Given the description of an element on the screen output the (x, y) to click on. 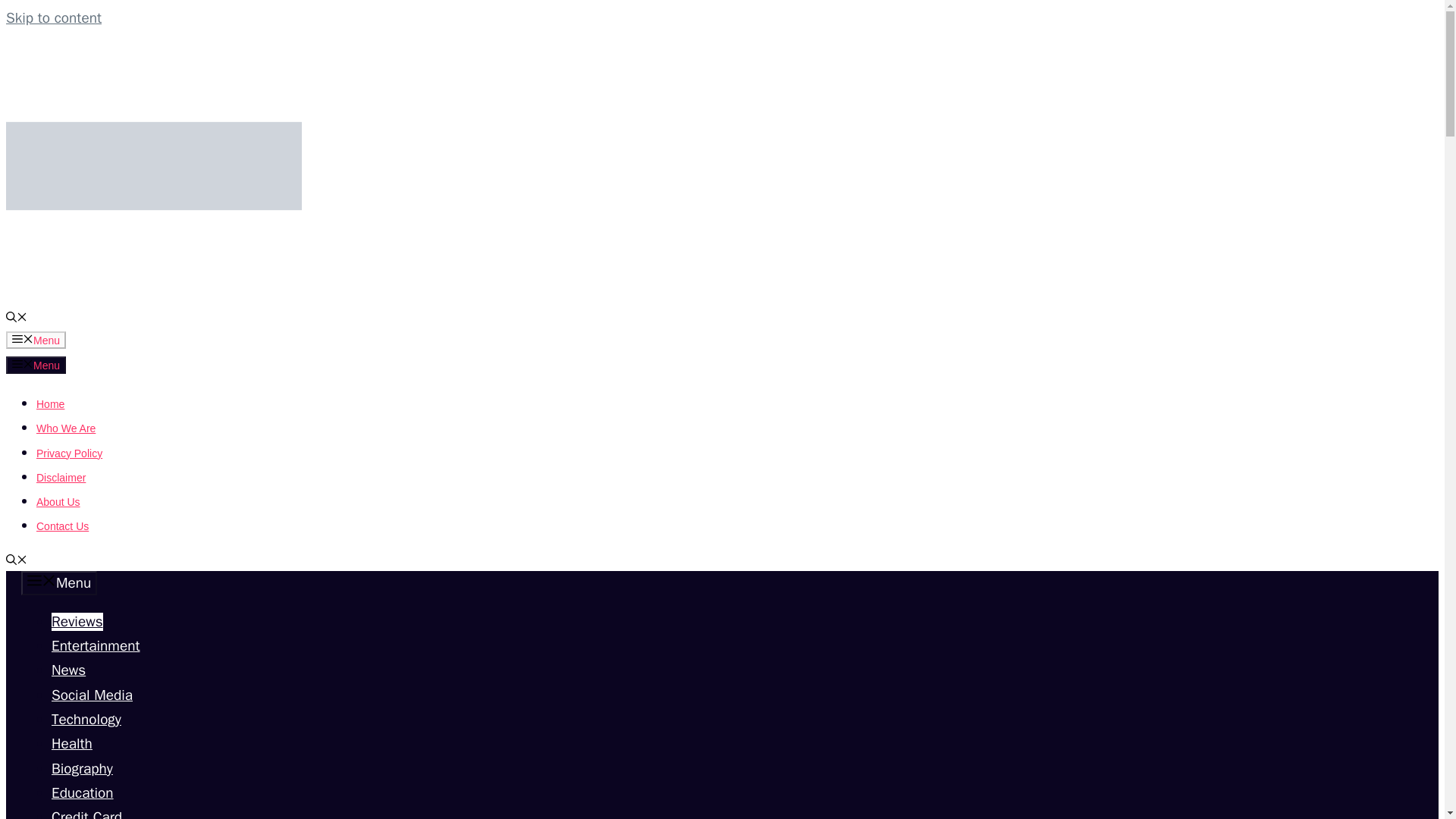
Contact Us (62, 526)
Who We Are (66, 428)
Health (71, 743)
Skip to content (53, 18)
Menu (35, 364)
Reviews (76, 621)
Biography (81, 769)
Home (50, 404)
Entertainment (94, 646)
Technology (85, 719)
Social Media (91, 695)
Education (81, 792)
News (67, 669)
Menu (35, 339)
Privacy Policy (68, 453)
